Given the description of an element on the screen output the (x, y) to click on. 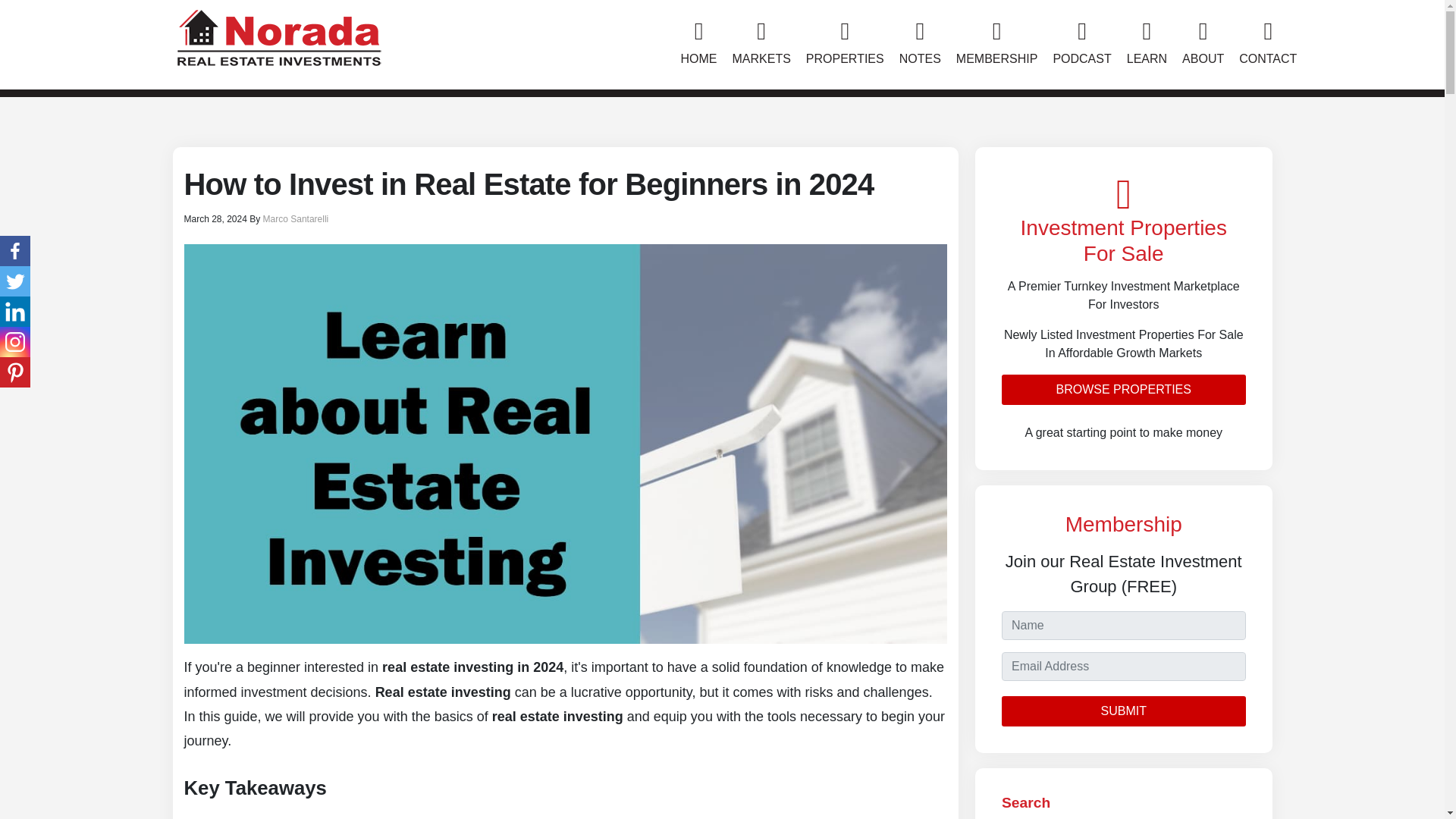
Facebook (15, 250)
MEMBERSHIP (997, 44)
NORADA REAL ESTATE INVESTMENTS (278, 35)
Linkedin (15, 311)
Pinterest (15, 372)
PROPERTIES (844, 44)
Twitter (15, 281)
Instagram (15, 341)
Submit (1123, 711)
BROWSE PROPERTIES (1123, 389)
Submit (1123, 711)
